Given the description of an element on the screen output the (x, y) to click on. 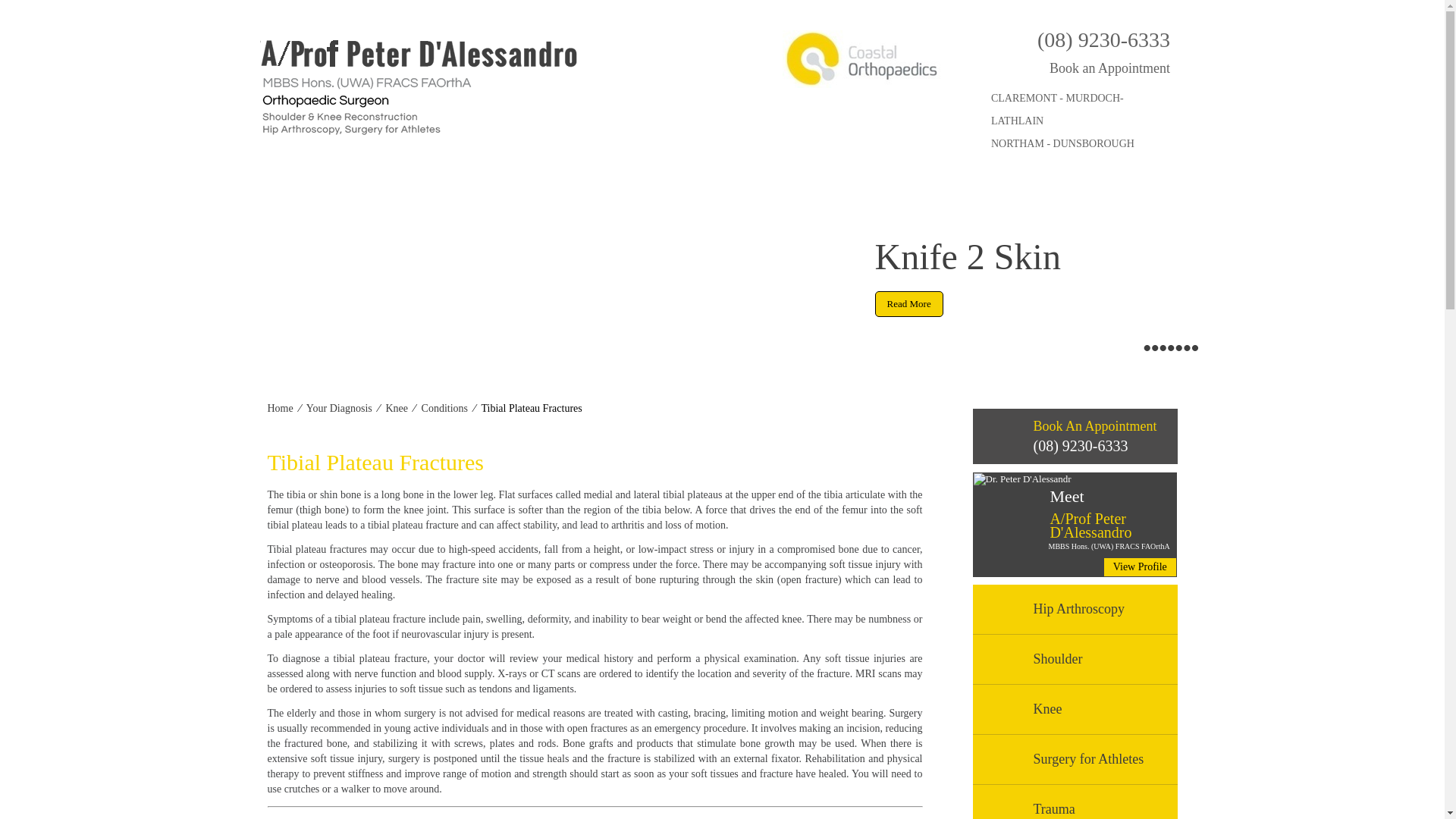
NORTHAM - DUNSBOROUGH (1065, 143)
Fellowships (566, 187)
Research (475, 187)
Home (300, 187)
Book an Appointment (1094, 67)
Your Treatment (674, 187)
My Practice (383, 187)
CLAREMONT - MURDOCH- LATHLAIN (1065, 81)
